Given the description of an element on the screen output the (x, y) to click on. 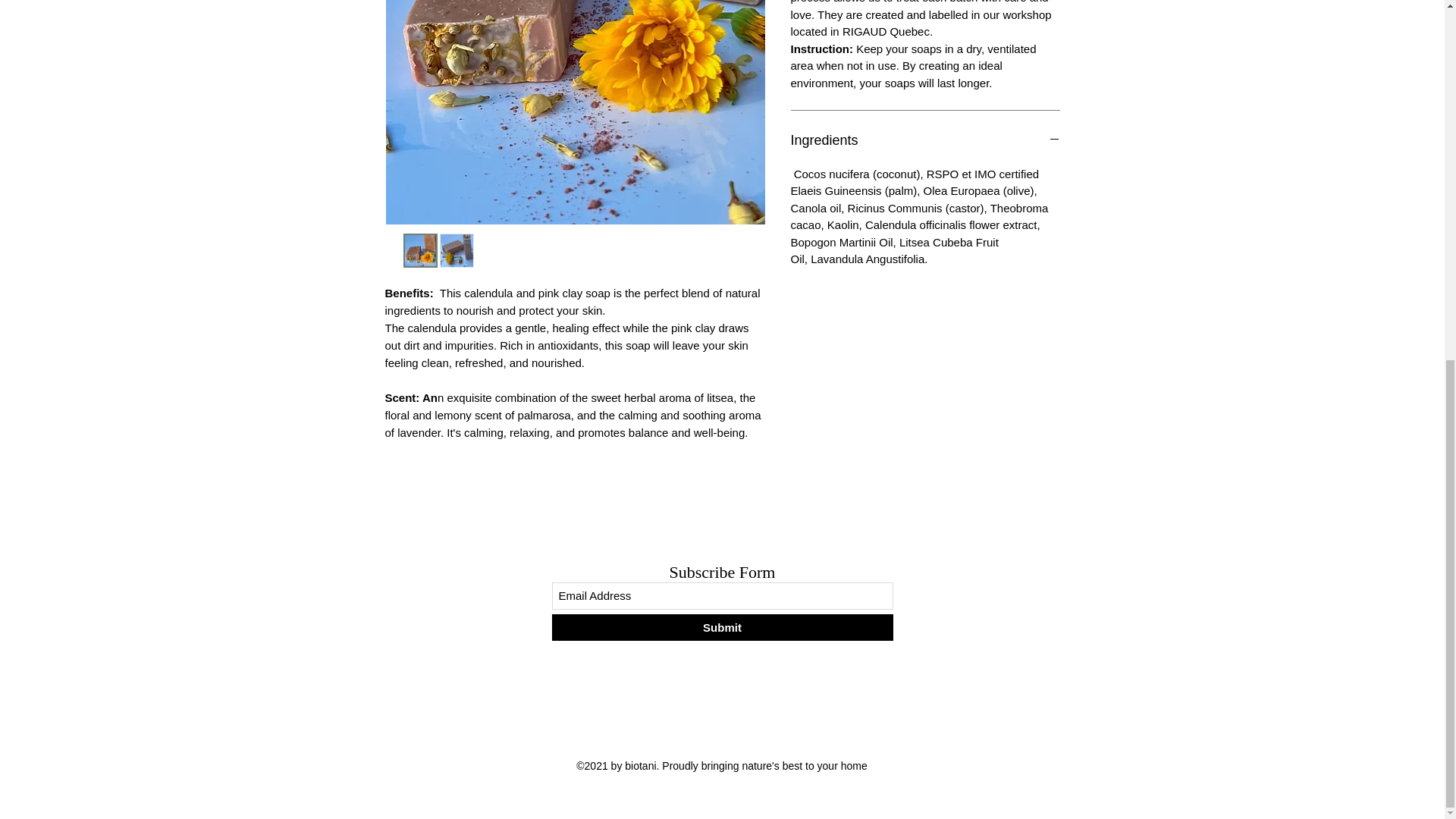
Ingredients (924, 140)
Submit (722, 627)
